Given the description of an element on the screen output the (x, y) to click on. 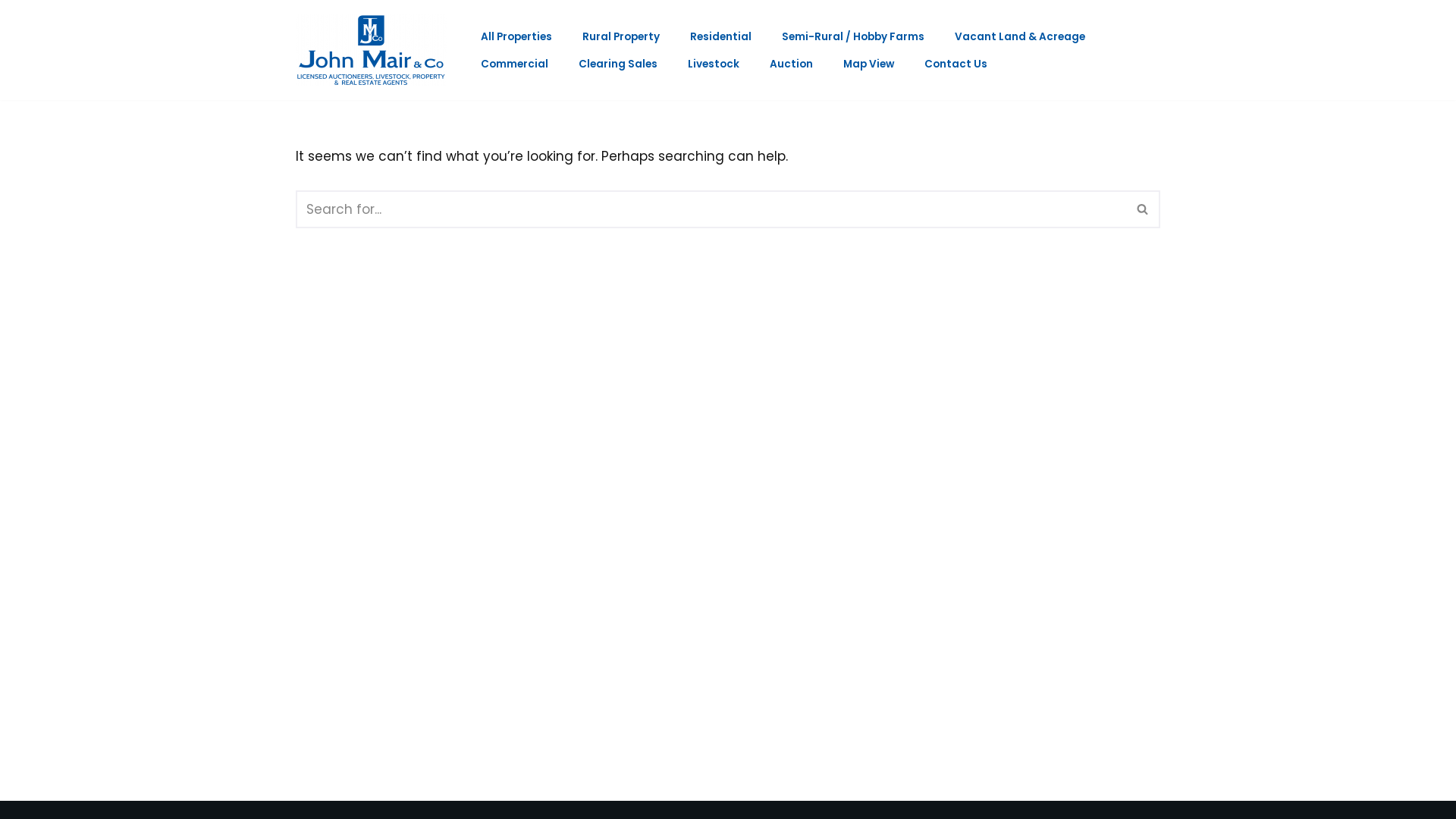
Residential Element type: text (720, 36)
Rural Property Element type: text (620, 36)
Map View Element type: text (868, 63)
Vacant Land & Acreage Element type: text (1019, 36)
Clearing Sales Element type: text (617, 63)
Auction Element type: text (790, 63)
Skip to content Element type: text (11, 31)
Livestock Element type: text (713, 63)
John Mair Element type: hover (375, 49)
Commercial Element type: text (514, 63)
All Properties Element type: text (516, 36)
Contact Us Element type: text (955, 63)
Semi-Rural / Hobby Farms Element type: text (852, 36)
